Given the description of an element on the screen output the (x, y) to click on. 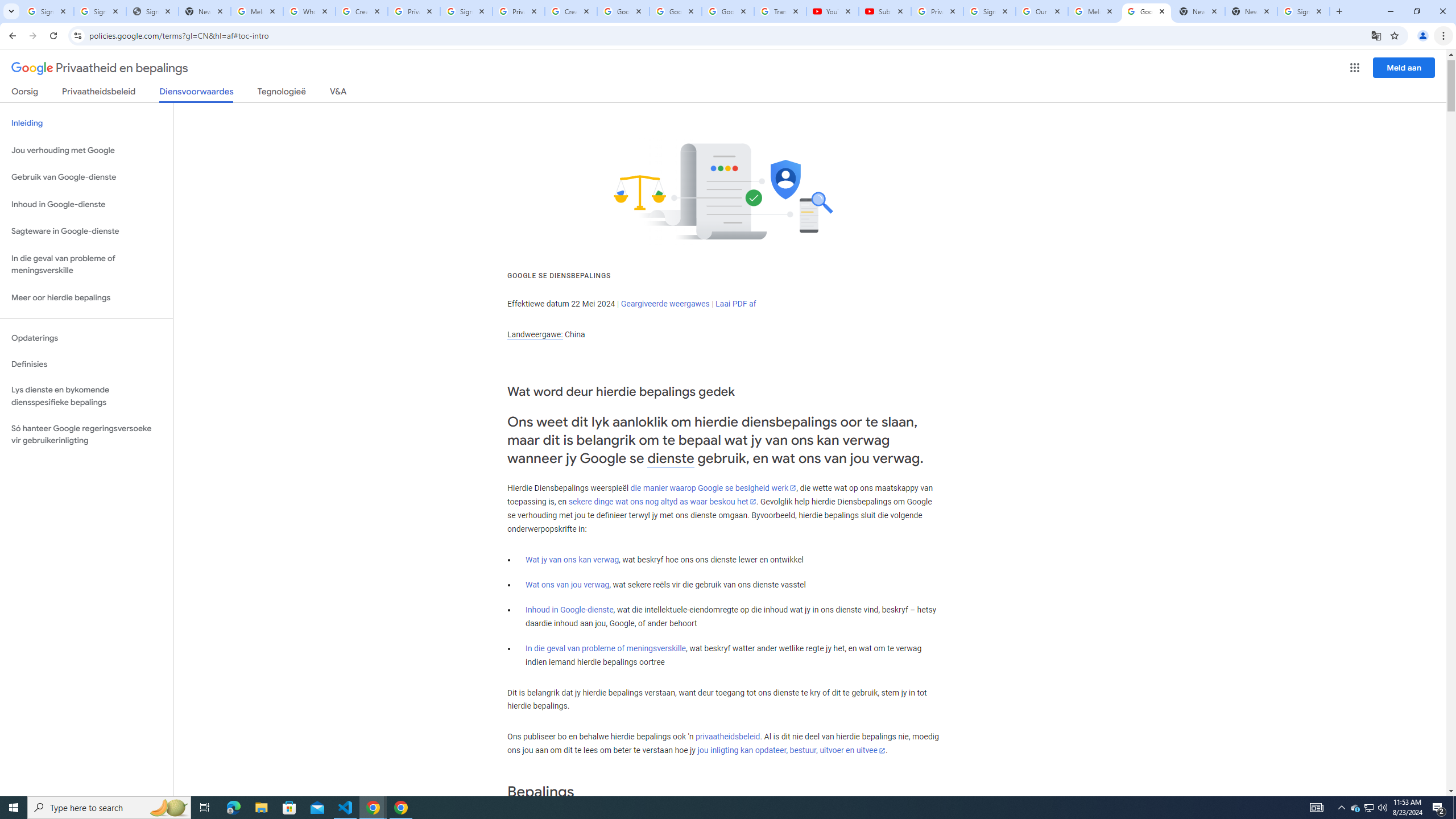
Oorsig (25, 93)
Opdaterings (86, 338)
Sign in - Google Accounts (47, 11)
Meer oor hierdie bepalings (86, 298)
Sign in - Google Accounts (989, 11)
Wat ons van jou verwag (567, 584)
Google-programme (1355, 67)
Lys dienste en bykomende diensspesifieke bepalings (86, 396)
Privaatheidsbeleid (98, 93)
Geargiveerde weergawes (665, 303)
